Given the description of an element on the screen output the (x, y) to click on. 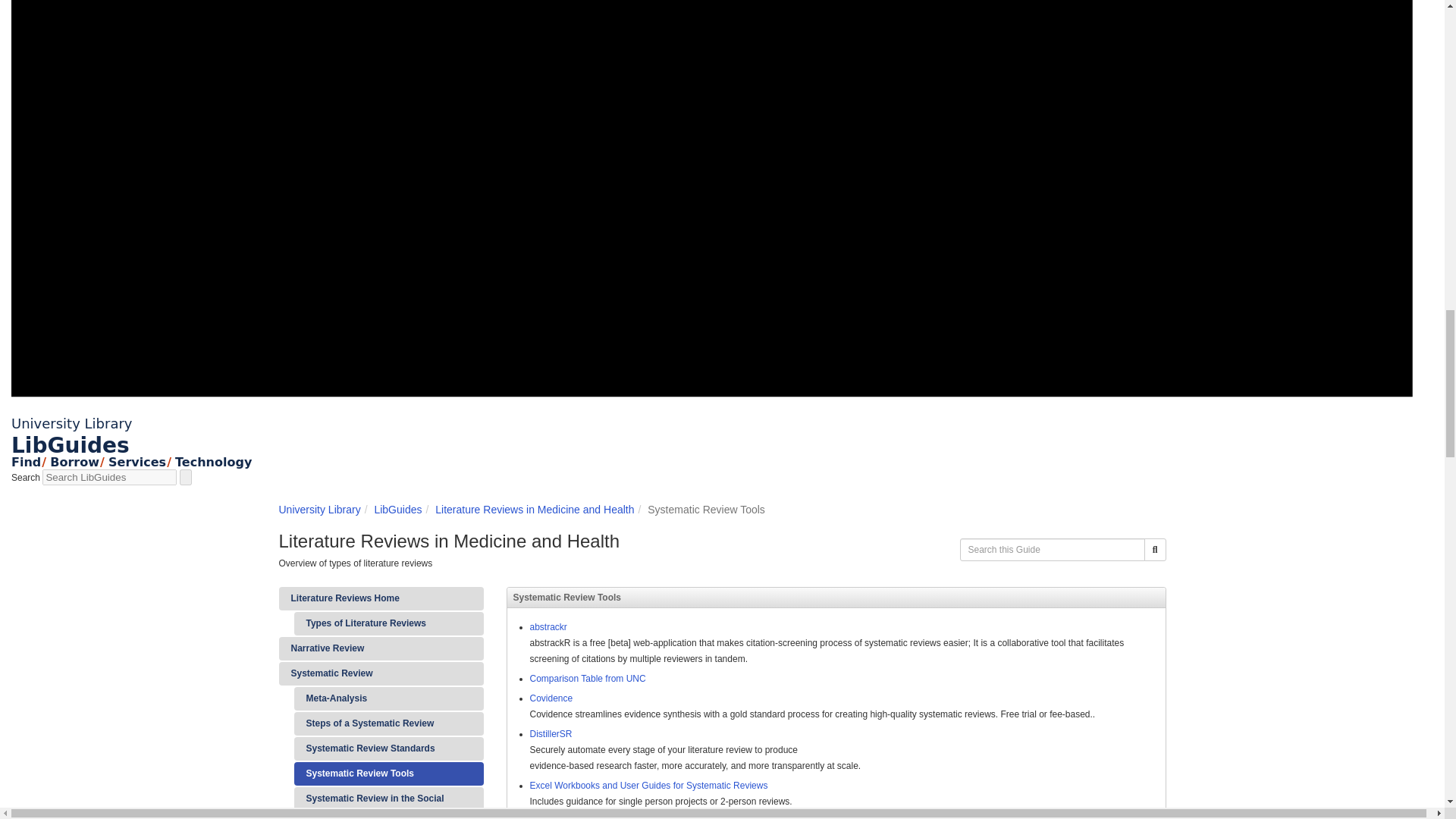
LibGuides (398, 509)
Search (1155, 549)
Steps of a Systematic Review (388, 723)
Systematic Review Tools (388, 773)
University Library (320, 509)
Borrow (74, 462)
Literature Reviews Home (381, 598)
Narrative Review (381, 648)
University Library (71, 423)
Systematic Review Standards (388, 748)
Meta-Analysis (388, 698)
Systematic Review in the Social Sciences (388, 803)
Find (25, 462)
Services (136, 462)
Literature Reviews in Medicine and Health (534, 509)
